Given the description of an element on the screen output the (x, y) to click on. 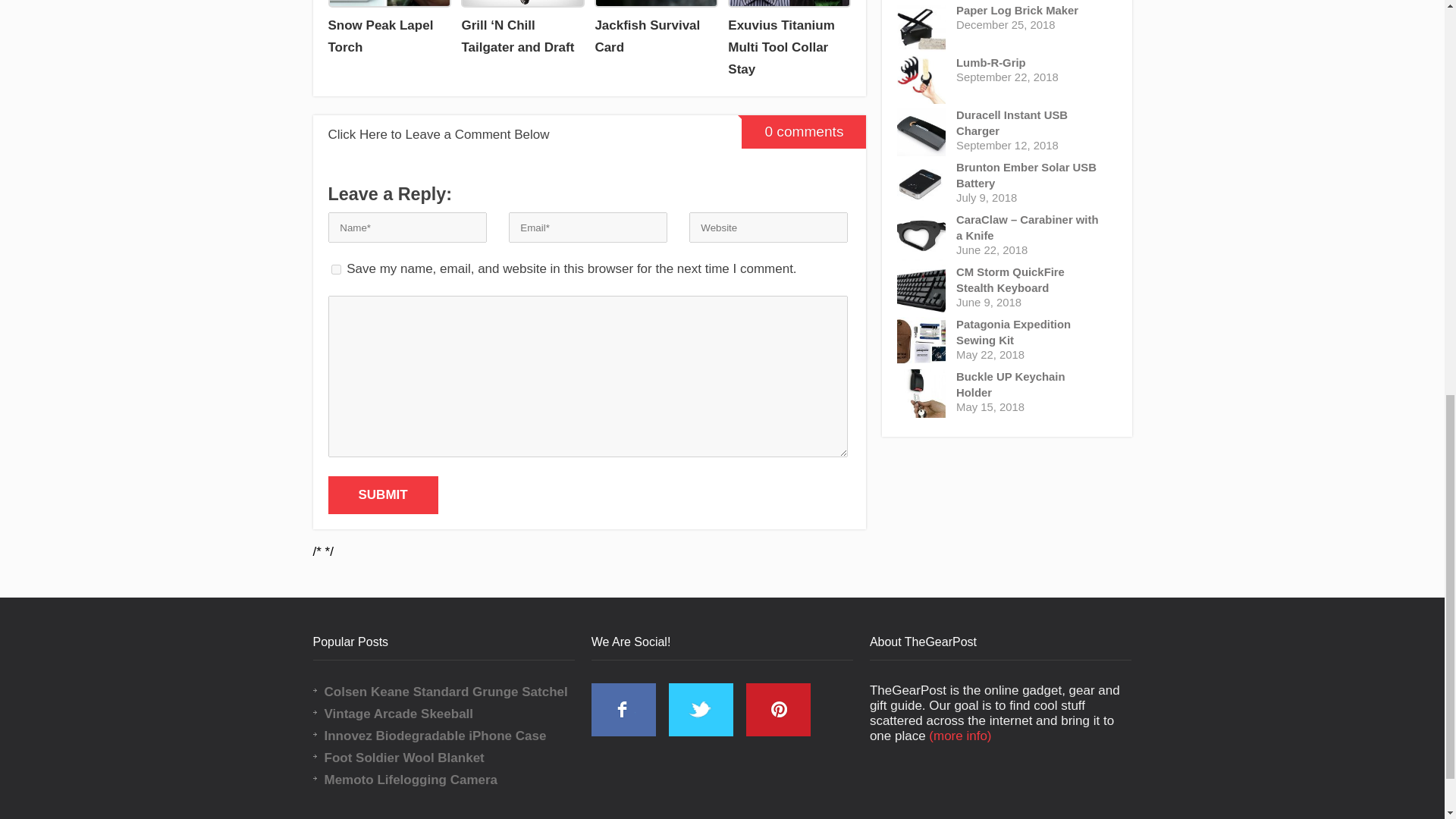
Jackfish Survival Card (655, 29)
SUBMIT (382, 494)
Colsen Keane Standard Grunge Satchel (455, 692)
Brunton Ember Solar USB Battery (1029, 175)
Foot Soldier Wool Blanket (455, 758)
Exuvius Titanium Multi Tool Collar Stay (789, 40)
Vintage Arcade Skeeball (455, 714)
CM Storm QuickFire Stealth Keyboard (1029, 280)
yes (335, 269)
Lumb-R-Grip (1029, 63)
